Given the description of an element on the screen output the (x, y) to click on. 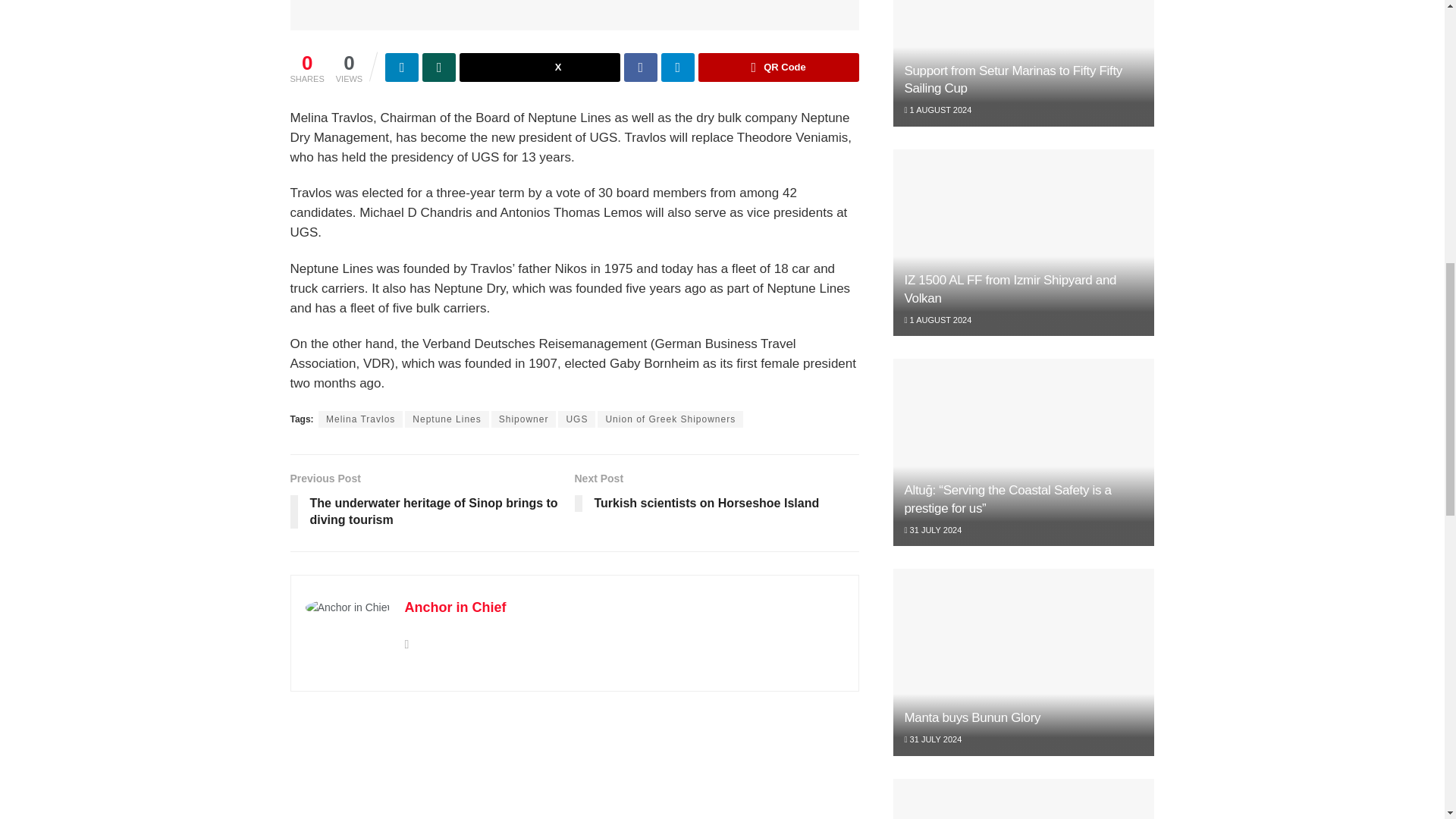
Melina Travlos (360, 419)
X (540, 67)
QR Code (778, 67)
